Given the description of an element on the screen output the (x, y) to click on. 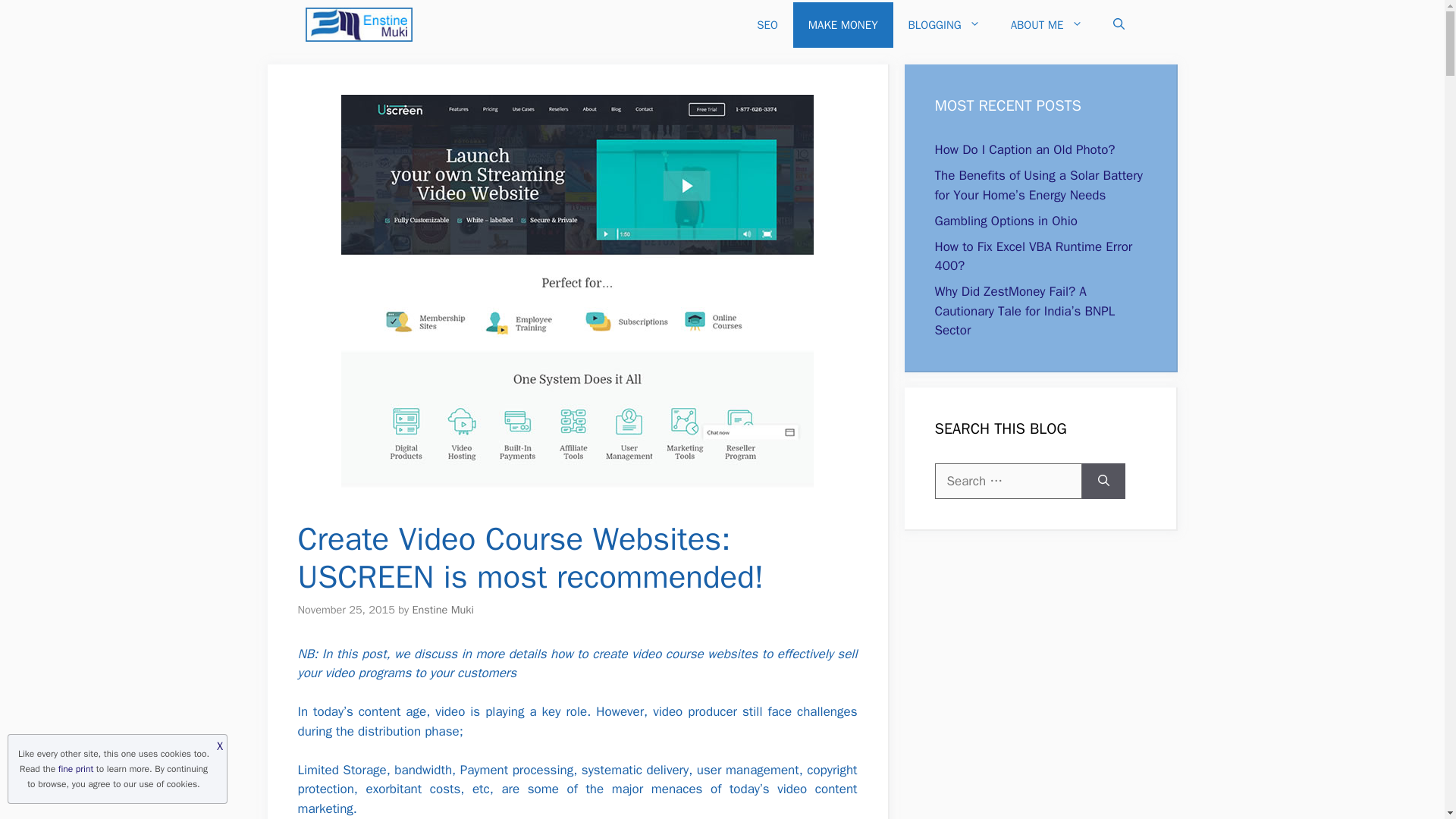
Search for: (1007, 480)
ABOUT ME (1046, 23)
View all posts by Enstine Muki (443, 609)
MAKE MONEY (843, 23)
How Do I Caption an Old Photo? (1024, 149)
SEO (767, 23)
BLOGGING (944, 23)
Business with blogging! (358, 24)
Gambling Options in Ohio (1005, 220)
Enstine Muki (443, 609)
How to Fix Excel VBA Runtime Error 400? (1033, 255)
